Given the description of an element on the screen output the (x, y) to click on. 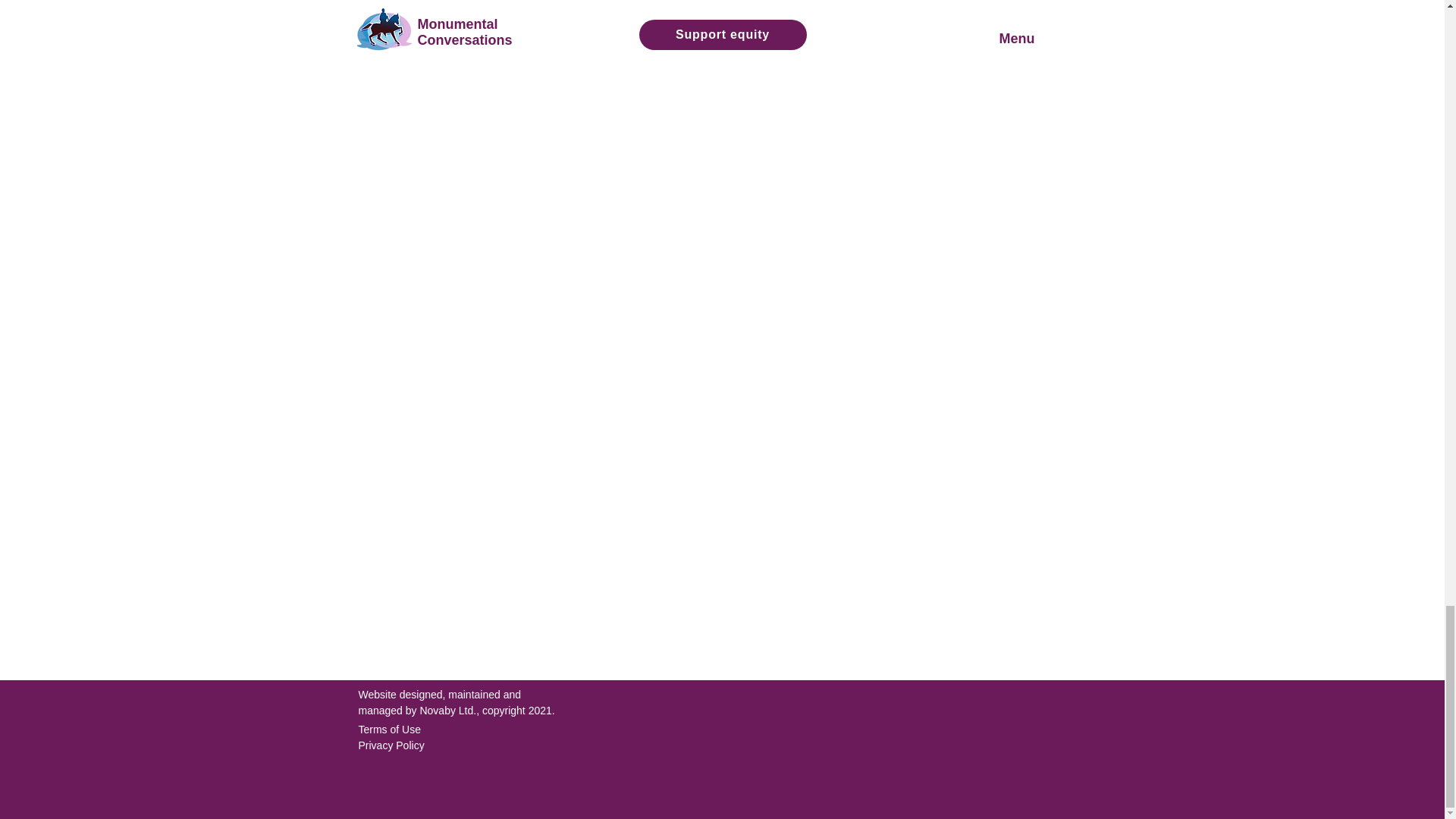
Privacy Policy (390, 745)
Terms of Use (389, 729)
